Given the description of an element on the screen output the (x, y) to click on. 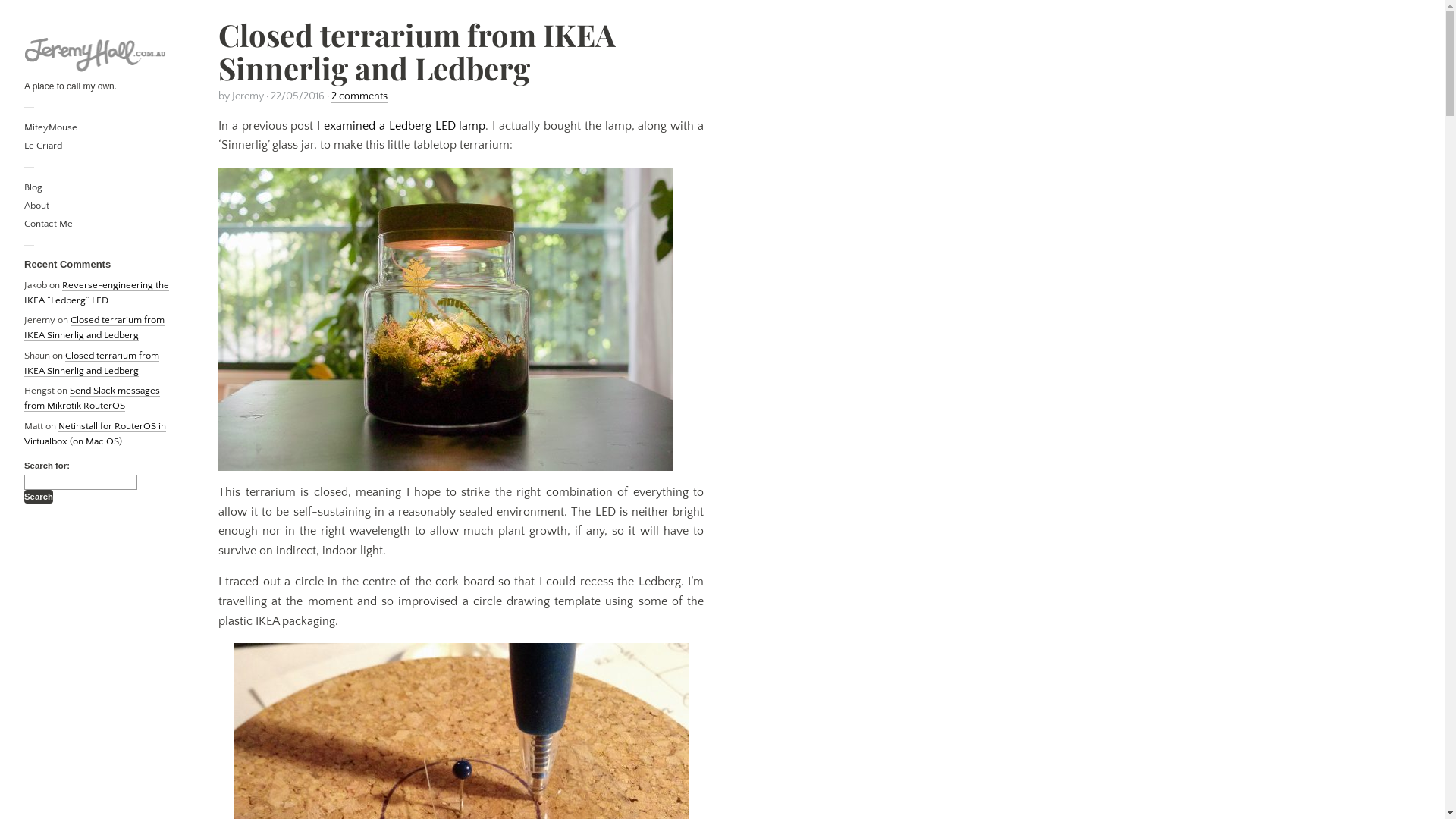
Closed terrarium from IKEA Sinnerlig and Ledberg Element type: text (94, 327)
Le Criard Element type: text (43, 145)
MiteyMouse Element type: text (50, 127)
examined a Ledberg LED lamp Element type: text (404, 126)
About Element type: text (36, 205)
Search Element type: text (38, 496)
jeremyhall.com.au Element type: hover (96, 53)
Blog Element type: text (33, 187)
2 comments Element type: text (359, 95)
Send Slack messages from Mikrotik RouterOS Element type: text (92, 398)
Closed terrarium from IKEA Sinnerlig and Ledberg Element type: text (91, 363)
Netinstall for RouterOS in Virtualbox (on Mac OS) Element type: text (95, 433)
Contact Me Element type: text (48, 223)
